Given the description of an element on the screen output the (x, y) to click on. 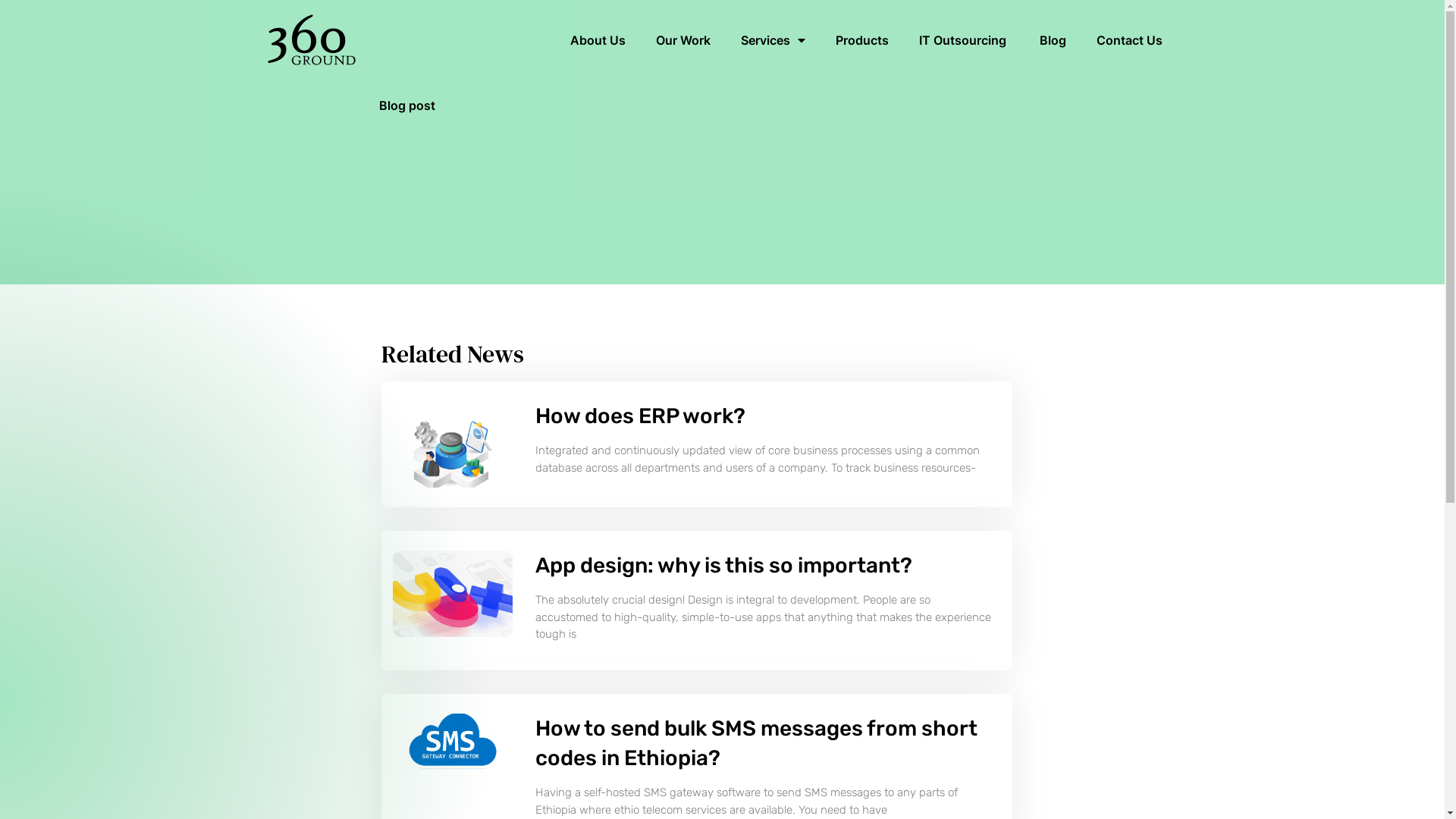
Services Element type: text (771, 39)
How does ERP work? Element type: text (640, 415)
About Us Element type: text (597, 39)
Blog Element type: text (1051, 39)
Our Work Element type: text (682, 39)
App design: why is this so important?  Element type: text (725, 564)
How to send bulk SMS messages from short codes in Ethiopia? Element type: text (756, 742)
Contact Us Element type: text (1129, 39)
Products Element type: text (861, 39)
IT Outsourcing  Element type: text (963, 39)
